Given the description of an element on the screen output the (x, y) to click on. 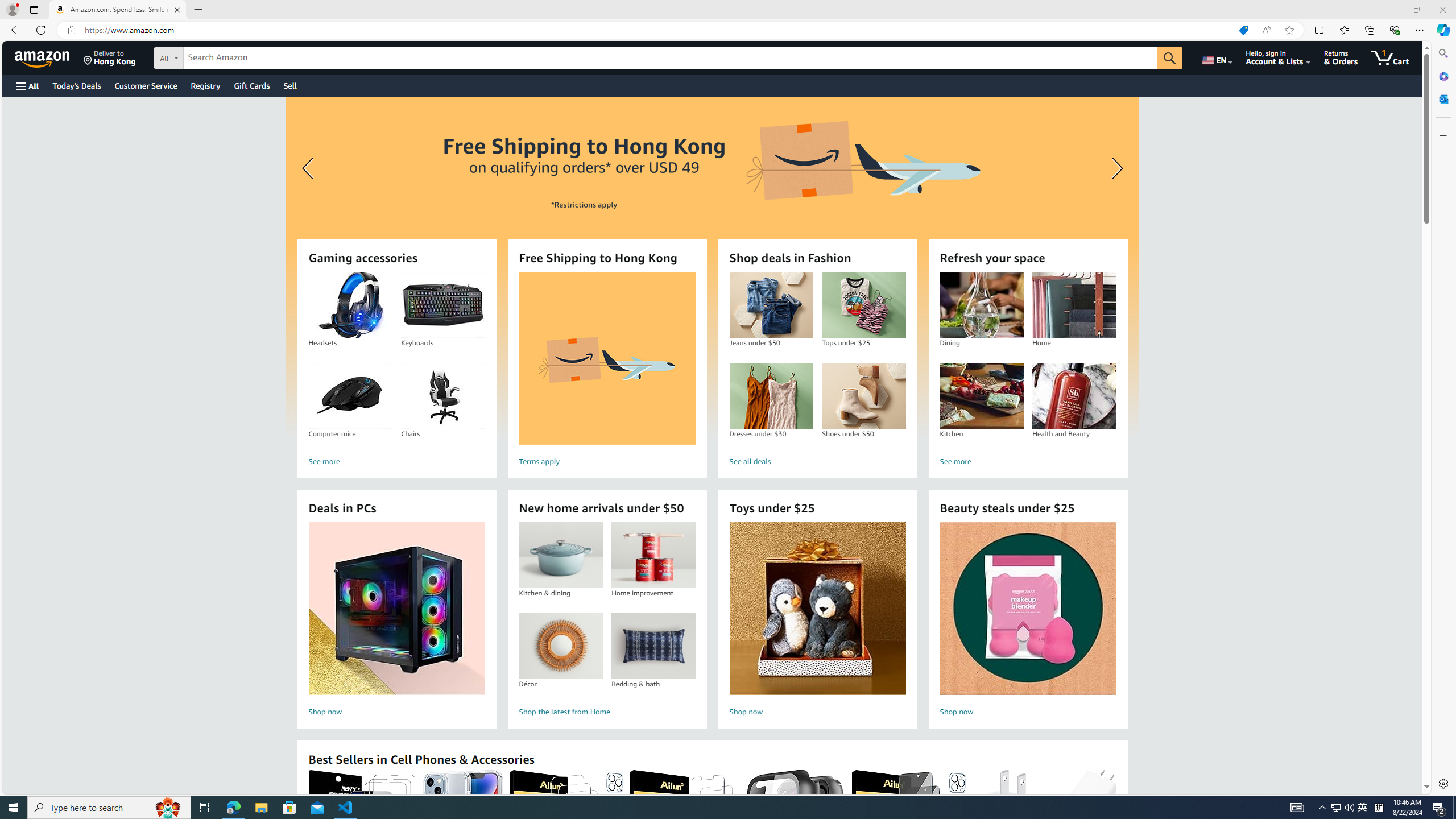
Bedding & bath (653, 645)
More Actions... (1442, 29)
Tray Input Indicator - Chinese (Simplified, China) (1378, 807)
Sell (290, 85)
Notifications (1443, 789)
Start (13, 807)
Close (Ctrl+F4) (369, 29)
Search (1442, 53)
Close (Escape) (1362, 60)
See all deals (817, 461)
Terminal 1 powershell (1422, 554)
See more (1027, 461)
Toggle Panel (Ctrl+J) (1339, 9)
